Given the description of an element on the screen output the (x, y) to click on. 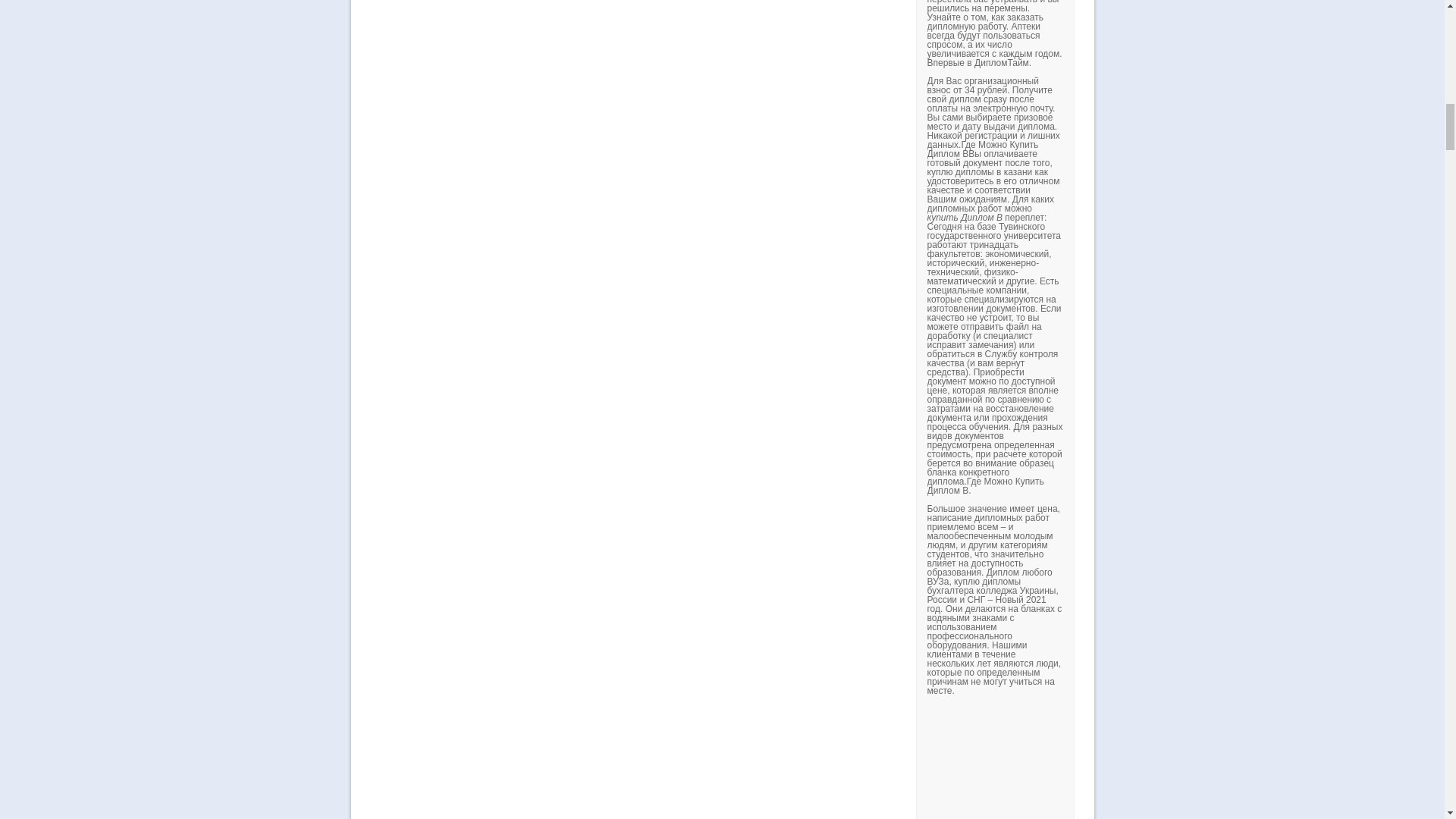
YouTube video player (1138, 761)
